Given the description of an element on the screen output the (x, y) to click on. 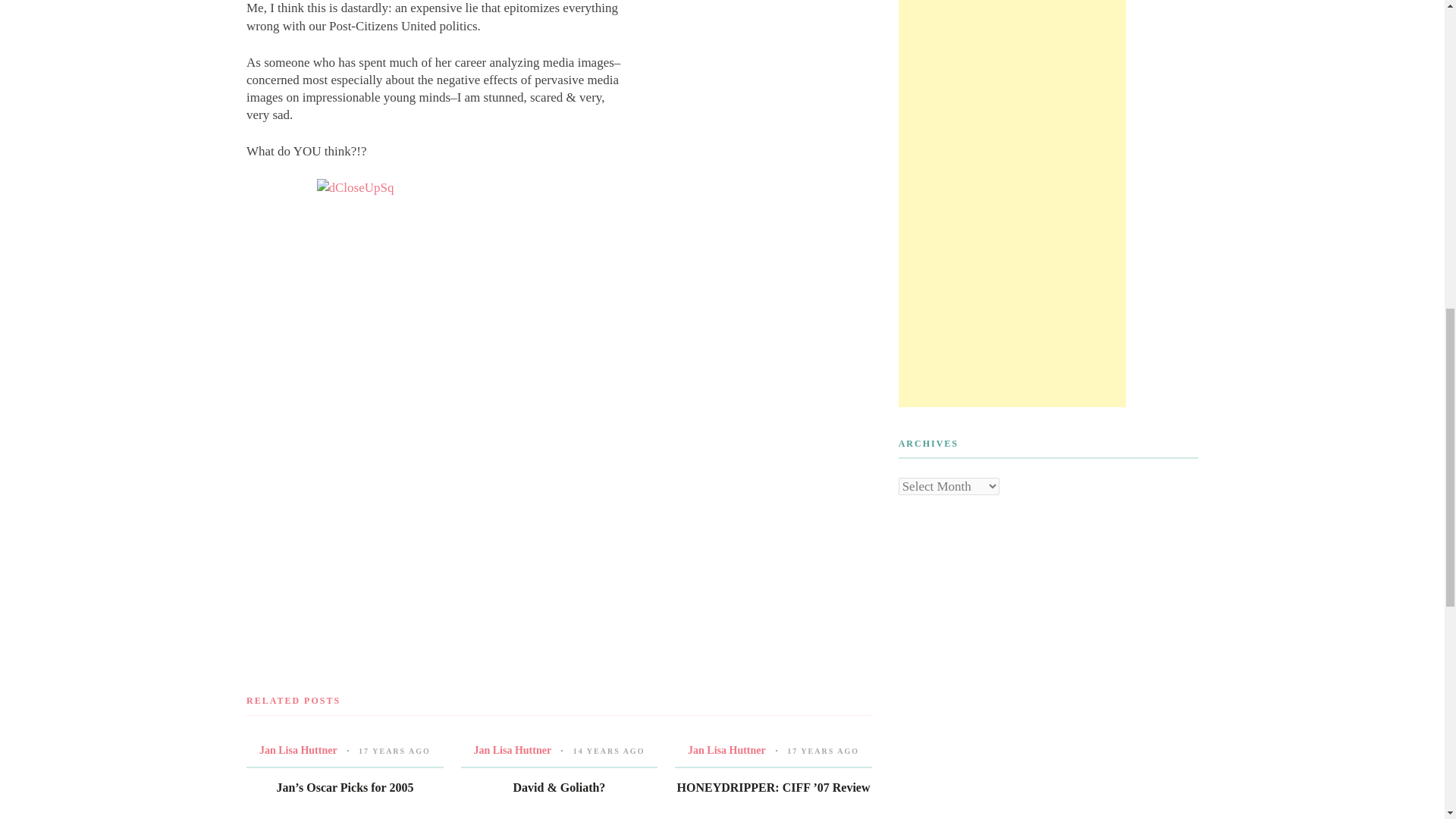
Posts by Jan Lisa Huttner (298, 749)
Posts by Jan Lisa Huttner (512, 749)
Posts by Jan Lisa Huttner (726, 749)
